Given the description of an element on the screen output the (x, y) to click on. 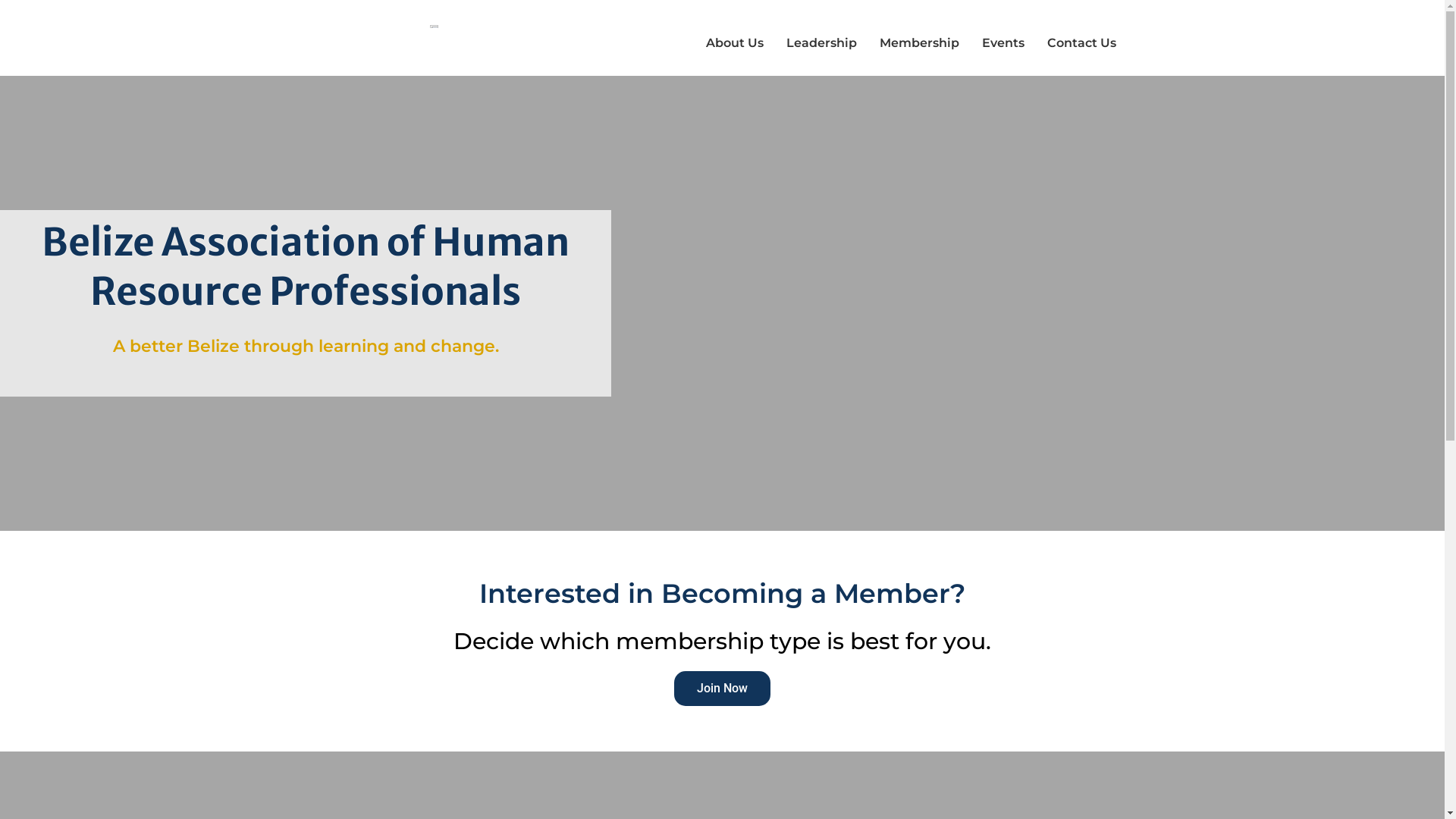
Leadership Element type: text (821, 42)
Contact Us Element type: text (1081, 42)
Join Now Element type: text (722, 687)
Events Element type: text (1002, 42)
Membership Element type: text (919, 42)
About Us Element type: text (734, 42)
